Given the description of an element on the screen output the (x, y) to click on. 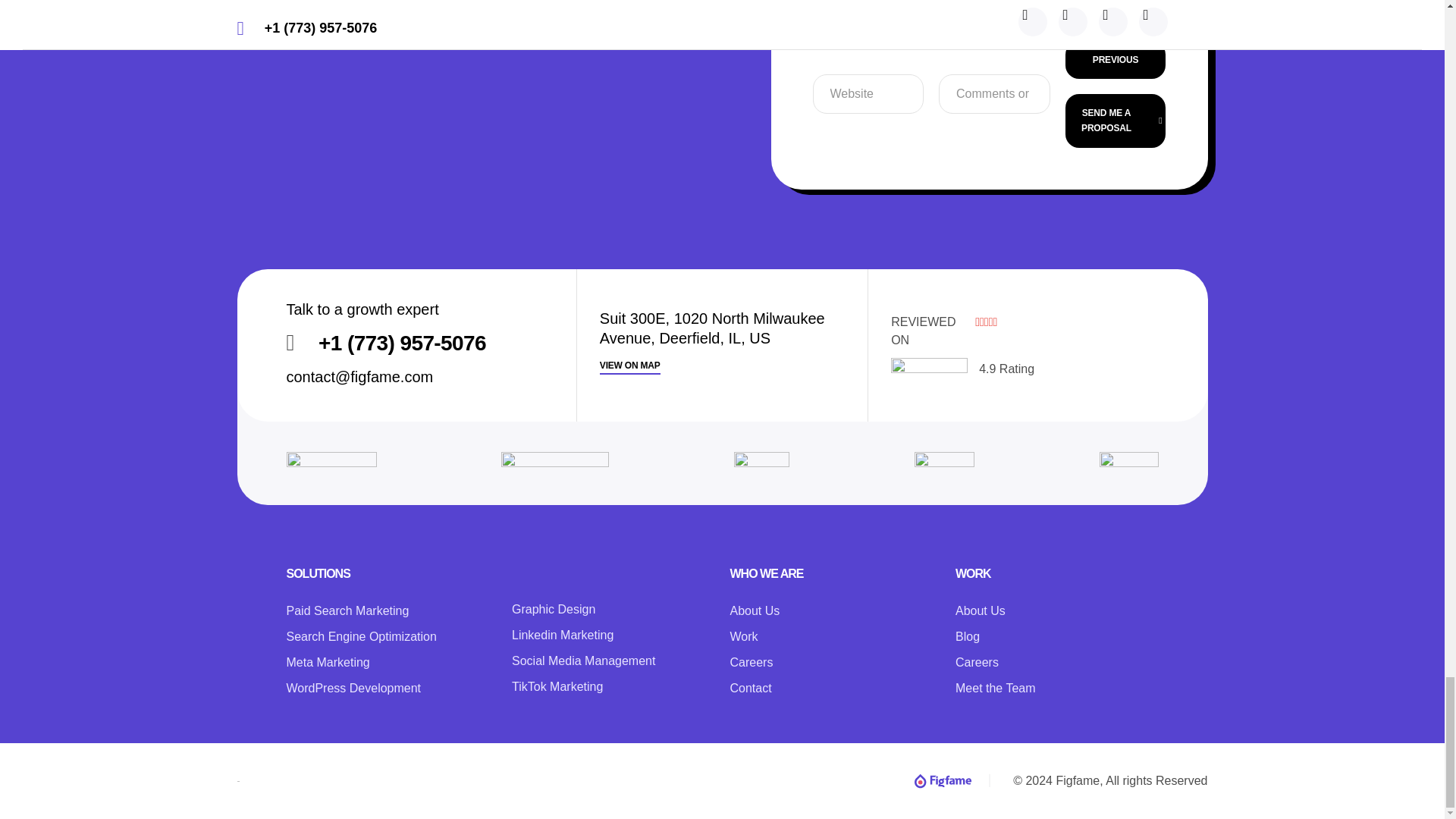
SEND ME A PROPOSAL (1115, 121)
Paid Search Marketing (387, 610)
Search Engine Optimization (1056, 649)
WordPress Development (387, 637)
VIEW ON MAP (387, 688)
NEXT (831, 649)
